Given the description of an element on the screen output the (x, y) to click on. 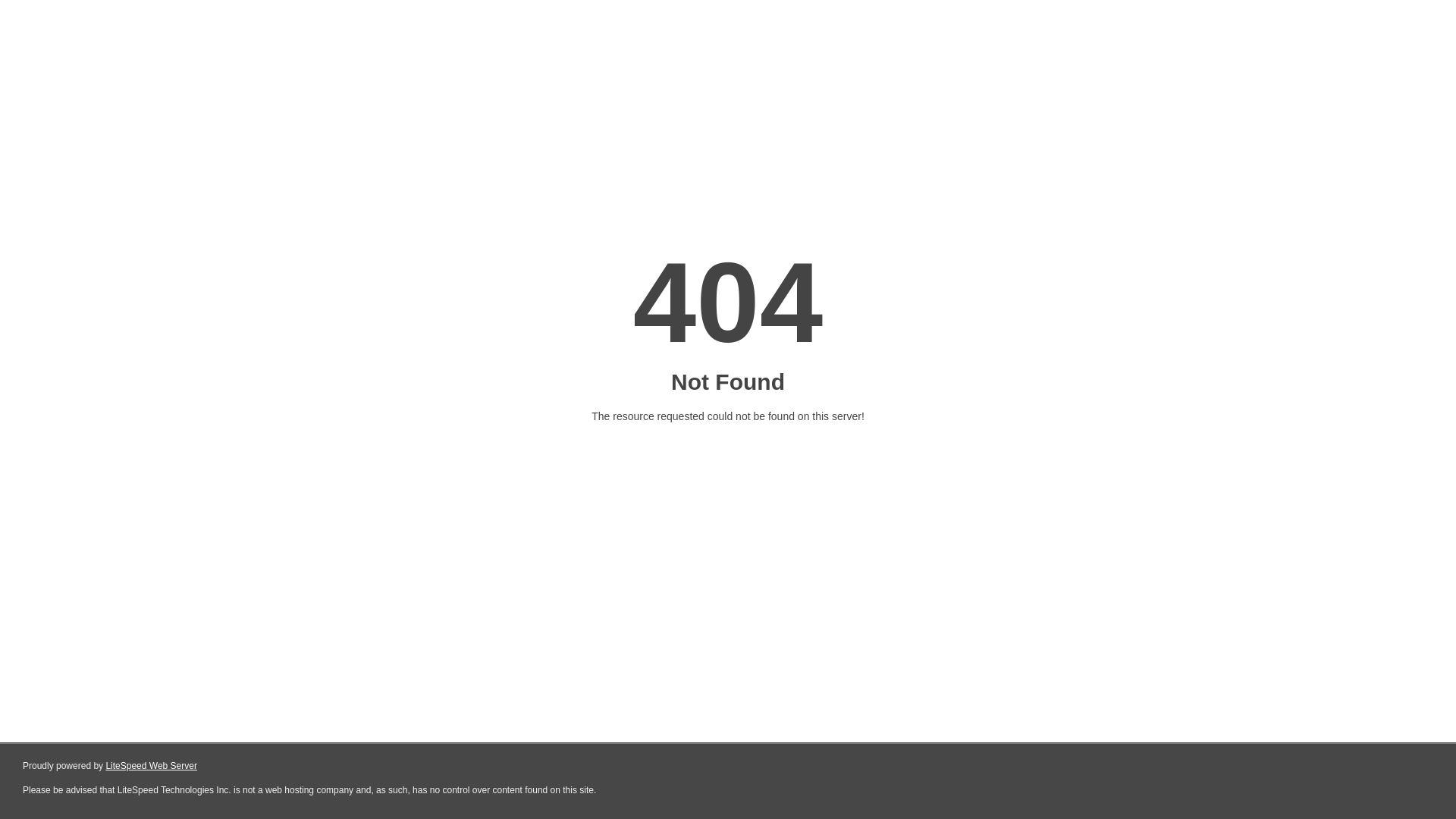
LiteSpeed Web Server Element type: text (151, 765)
